Given the description of an element on the screen output the (x, y) to click on. 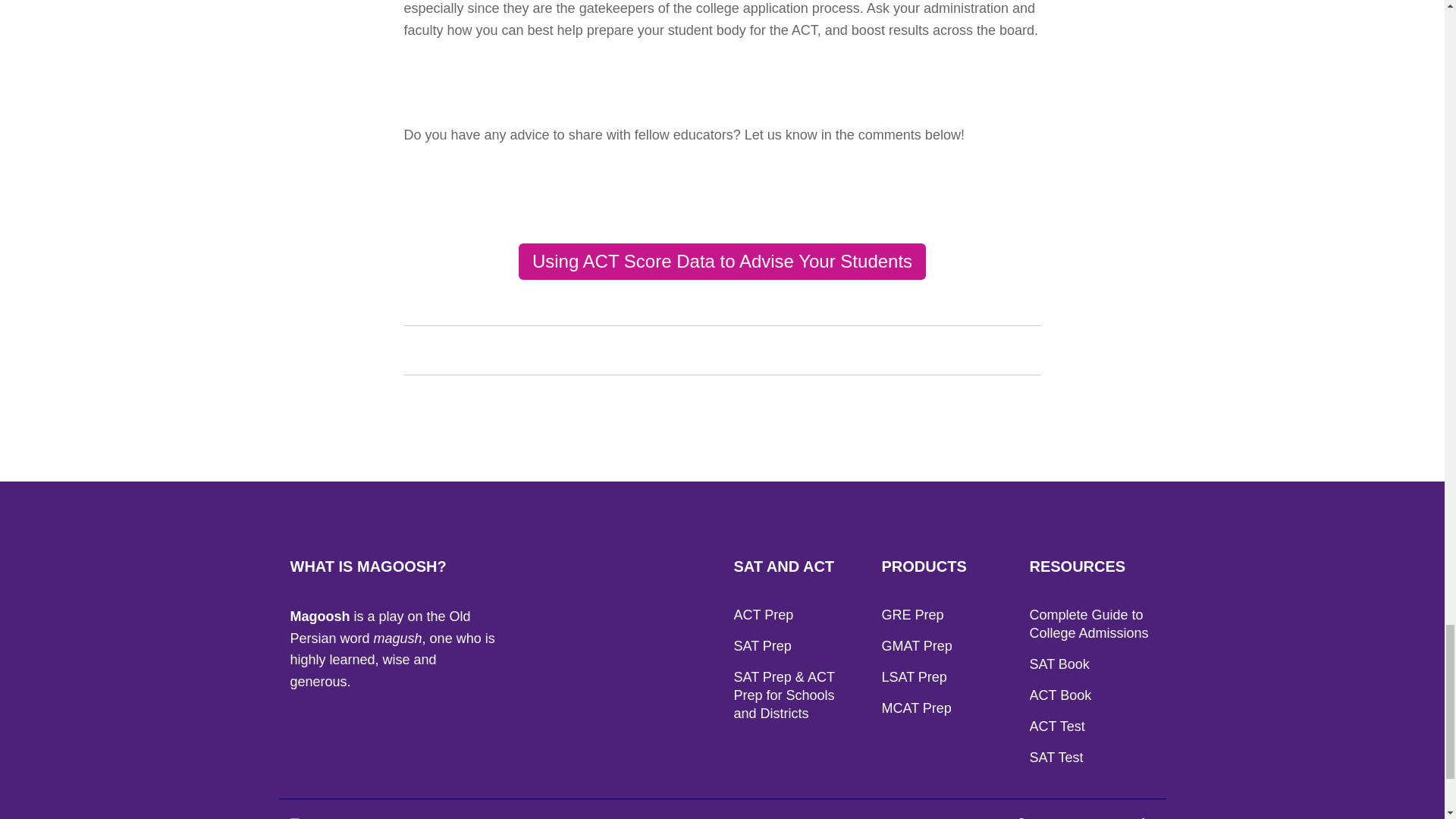
Using ACT Score Data to Advise Your Students (722, 261)
